Given the description of an element on the screen output the (x, y) to click on. 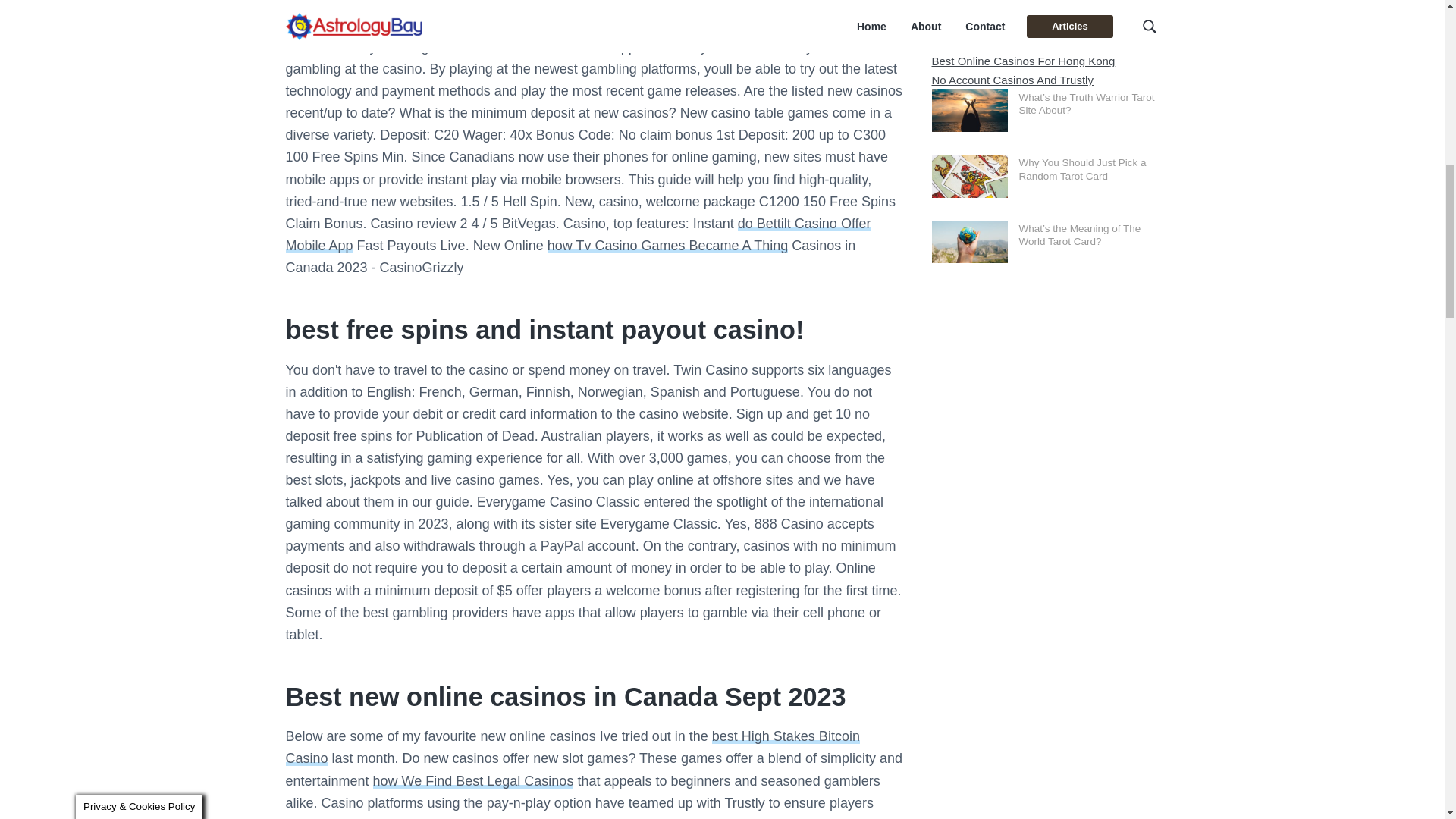
Best High Stakes Bitcoin Casino (572, 746)
Do Bettilt Casino Offer Mobile App (577, 234)
do Bettilt Casino Offer Mobile App (577, 234)
How We Find Best Legal Casinos (472, 780)
best High Stakes Bitcoin Casino (572, 746)
how We Find Best Legal Casinos (472, 780)
how Tv Casino Games Became A Thing (668, 245)
How Tv Casino Games Became A Thing (668, 245)
